Given the description of an element on the screen output the (x, y) to click on. 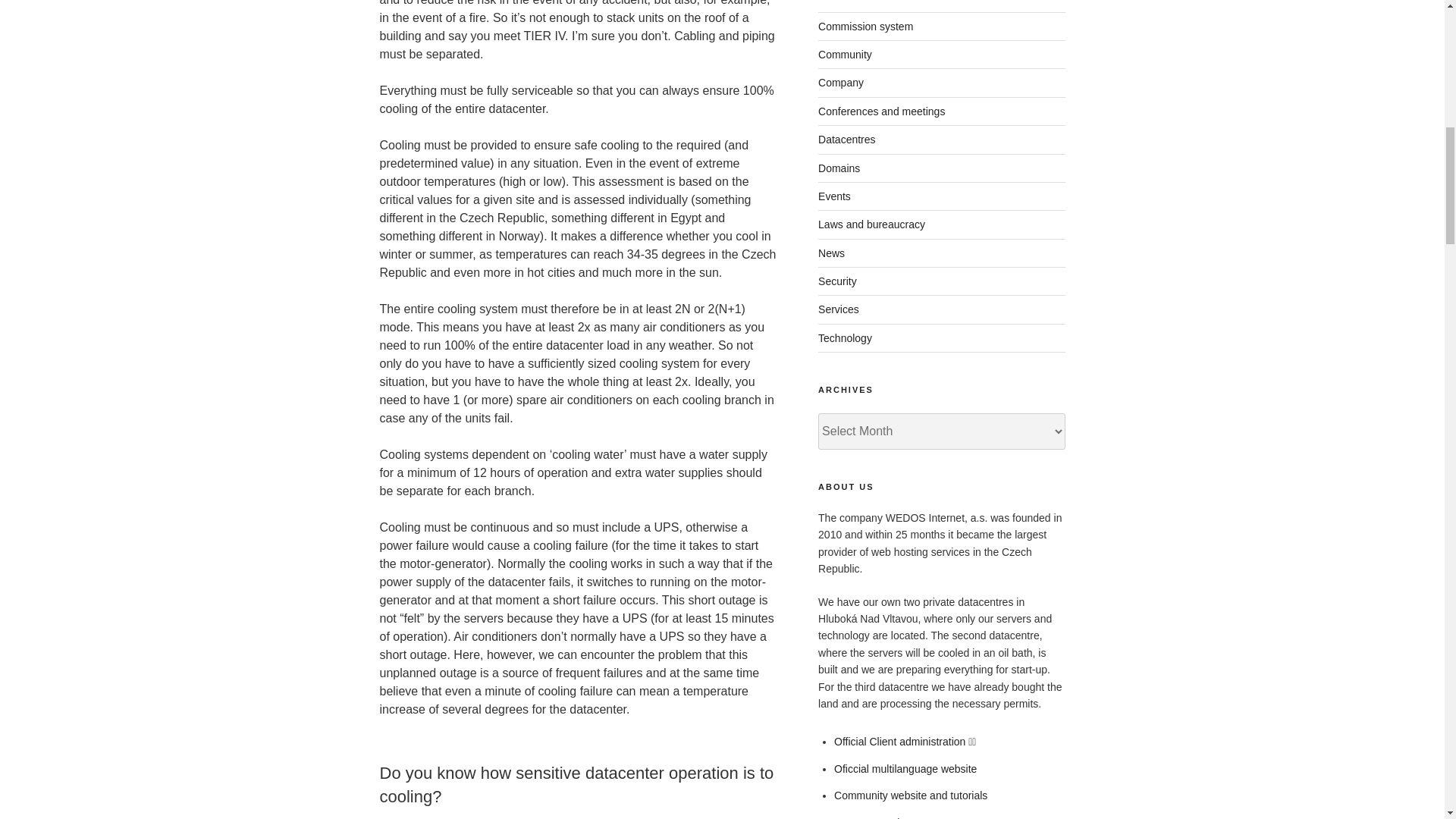
Services (838, 309)
WEDOS OnLine (872, 817)
Conferences and meetings (881, 111)
Community website and tutorials (910, 795)
Official Client administration (899, 741)
Datacentres (846, 139)
Commission system (865, 26)
Technology (845, 337)
Oficcial multilanguage website (905, 768)
Company (840, 82)
